Given the description of an element on the screen output the (x, y) to click on. 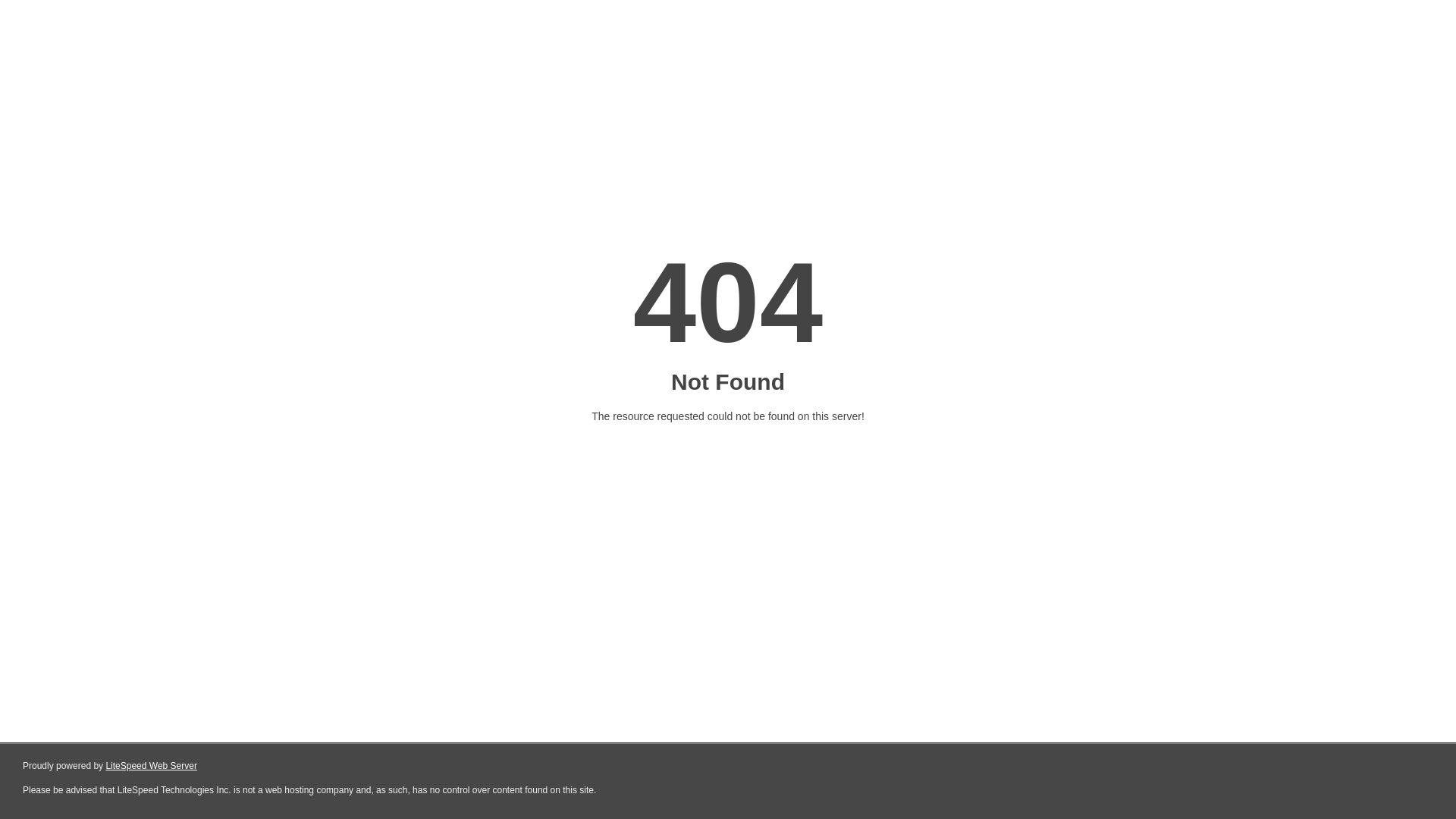
LiteSpeed Web Server Element type: text (151, 765)
